Given the description of an element on the screen output the (x, y) to click on. 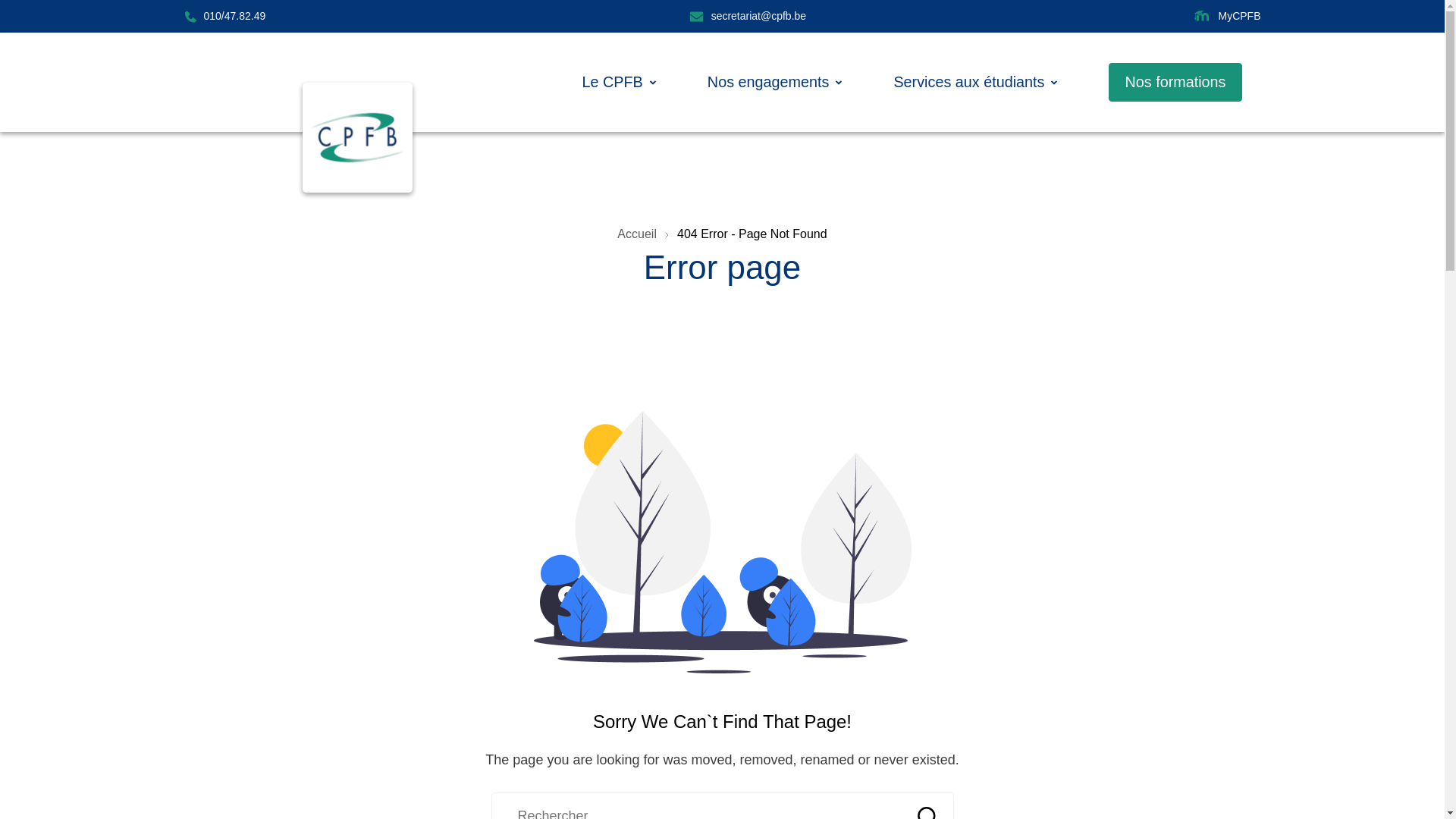
Nos engagements Element type: text (768, 82)
Le CPFB Element type: text (612, 82)
404 Error - Page Not Found Element type: text (752, 233)
Accueil Element type: text (636, 233)
MyCPFB Element type: text (1226, 15)
010/47.82.49 Element type: text (224, 15)
Nos formations Element type: text (1174, 81)
secretariat@cpfb.be Element type: text (747, 15)
